Given the description of an element on the screen output the (x, y) to click on. 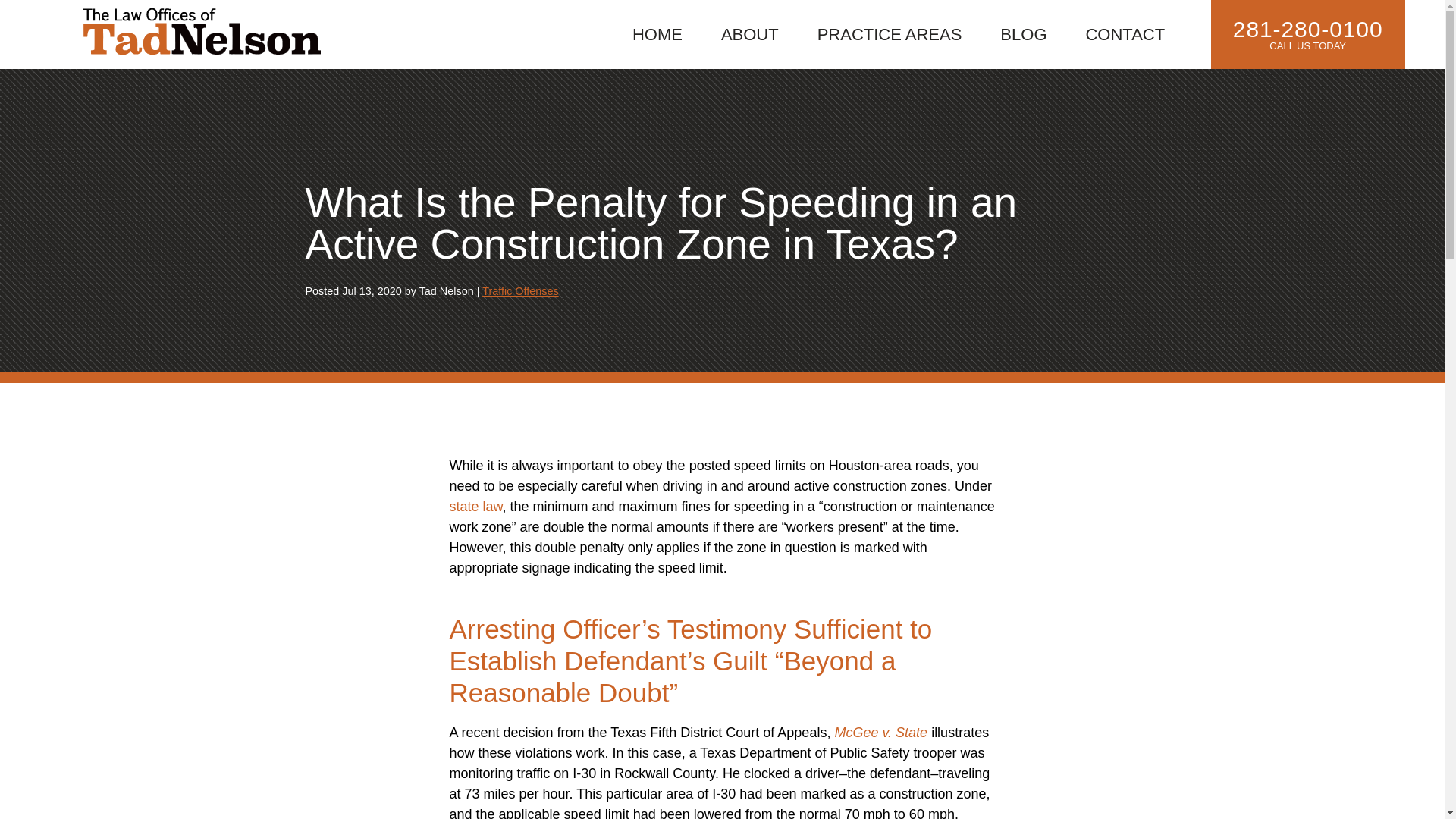
Tad Law logo (201, 31)
home page (201, 33)
ABOUT (749, 33)
HOME (656, 33)
Tad Law logo (201, 33)
